Given the description of an element on the screen output the (x, y) to click on. 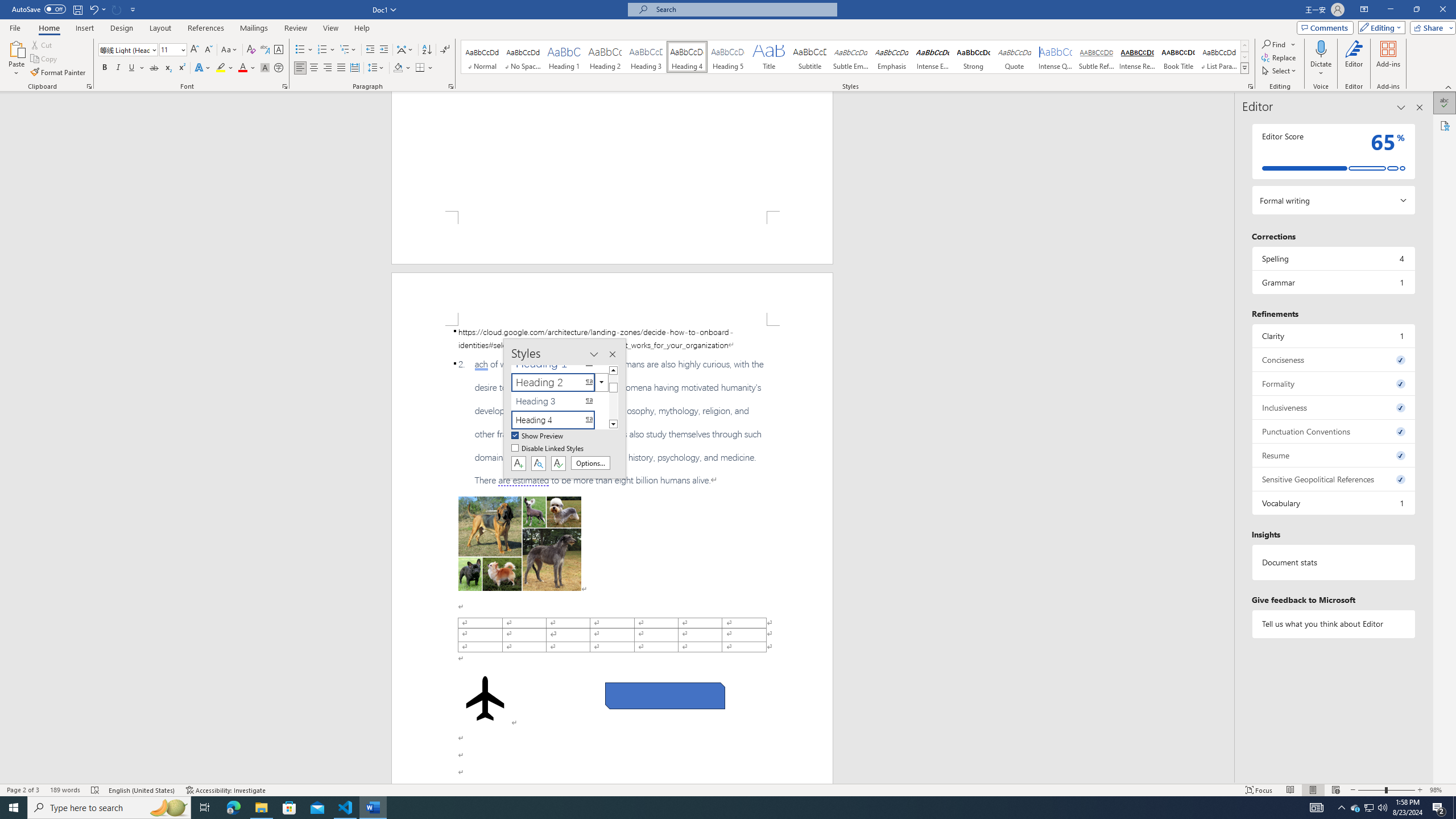
Book Title (1177, 56)
Undo Style (92, 9)
Rectangle: Diagonal Corners Snipped 2 (665, 695)
Title (768, 56)
Class: NetUIButton (558, 463)
AutomationID: QuickStylesGallery (855, 56)
Subtle Emphasis (849, 56)
